Given the description of an element on the screen output the (x, y) to click on. 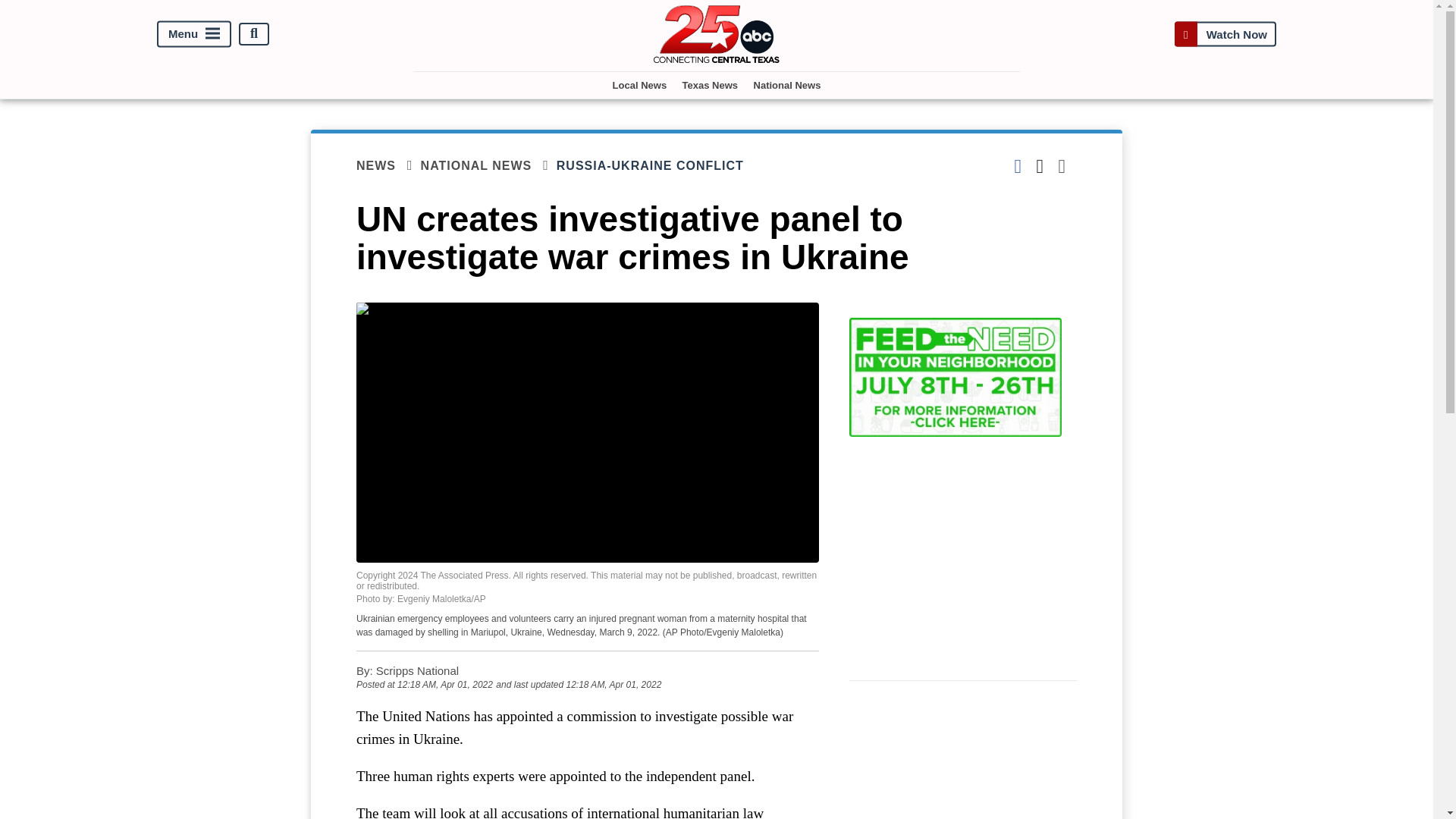
Menu (194, 33)
Watch Now (1224, 33)
